Given the description of an element on the screen output the (x, y) to click on. 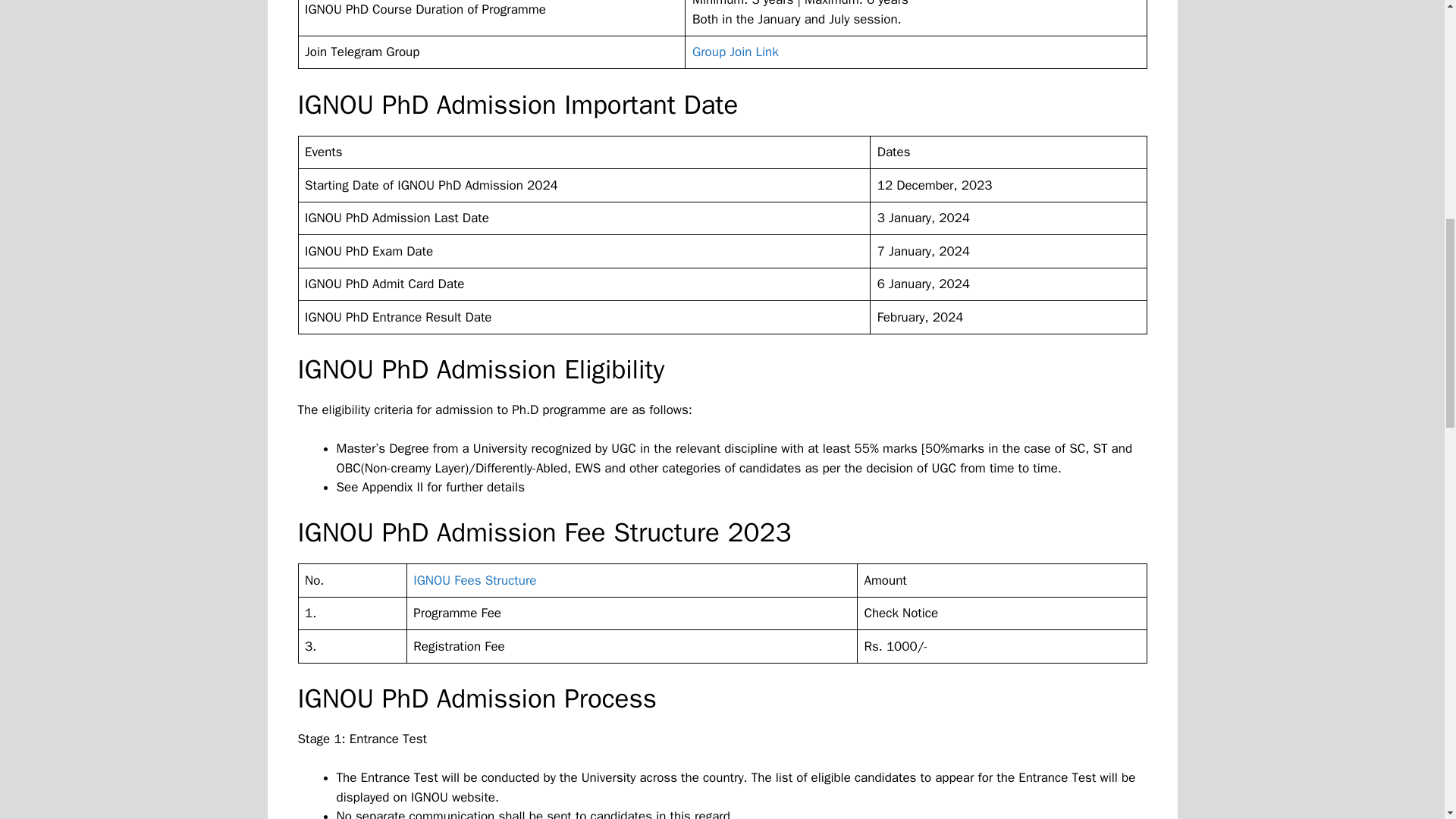
IGNOU Fees Structure (474, 580)
Group Join Link (735, 51)
